Given the description of an element on the screen output the (x, y) to click on. 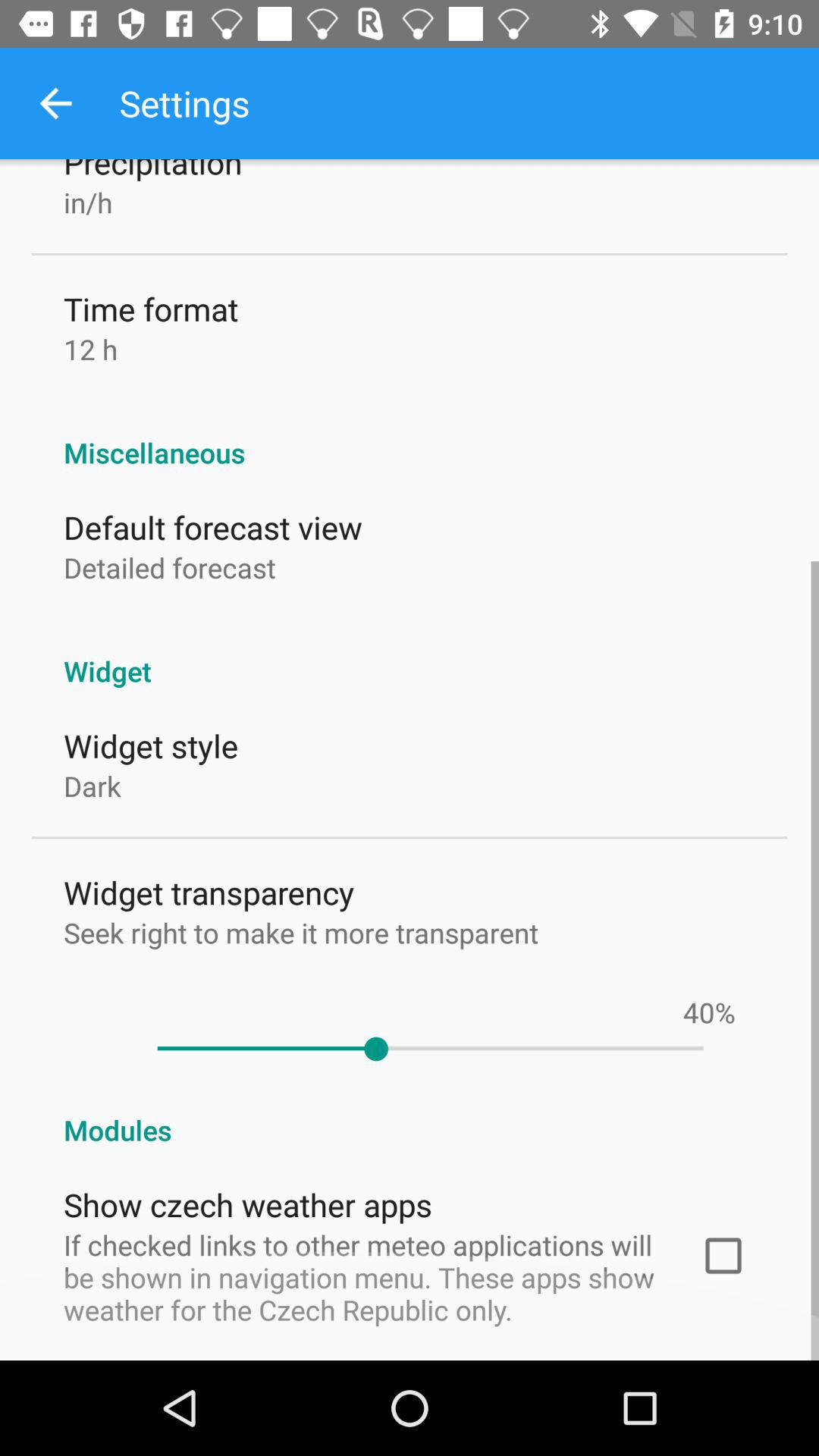
go back (55, 103)
